Given the description of an element on the screen output the (x, y) to click on. 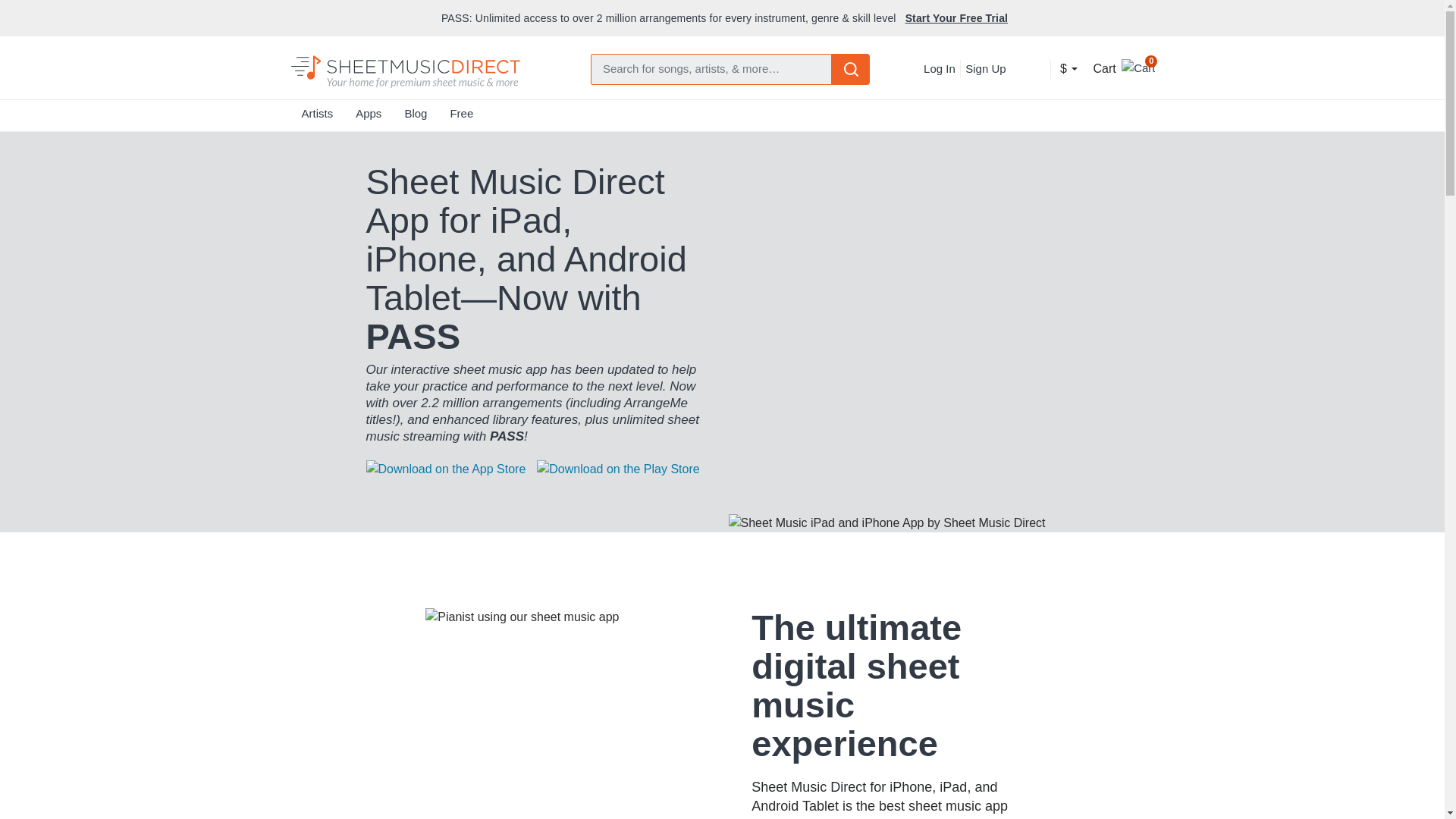
Sign Up (984, 68)
Log In (939, 68)
Free (461, 117)
Artists (316, 117)
Apps (368, 117)
Search for sheet music (711, 69)
0 (1137, 65)
Blog (415, 117)
Start Your Free Trial (956, 18)
Submit (851, 68)
